Given the description of an element on the screen output the (x, y) to click on. 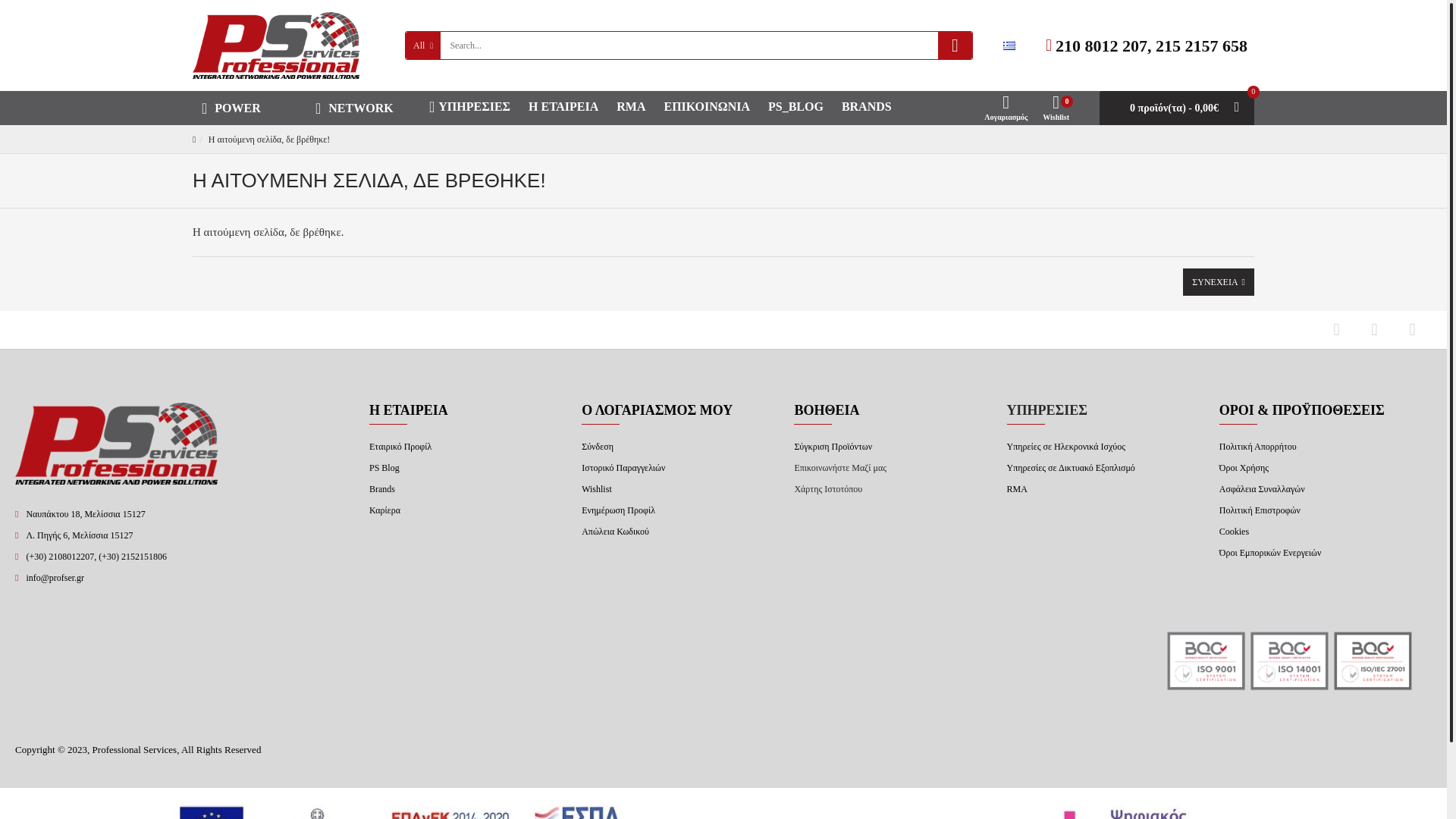
210 8012 207, 215 2157 658 (1146, 44)
Professional Services (275, 45)
POWER (248, 107)
Greek (1008, 44)
